Given the description of an element on the screen output the (x, y) to click on. 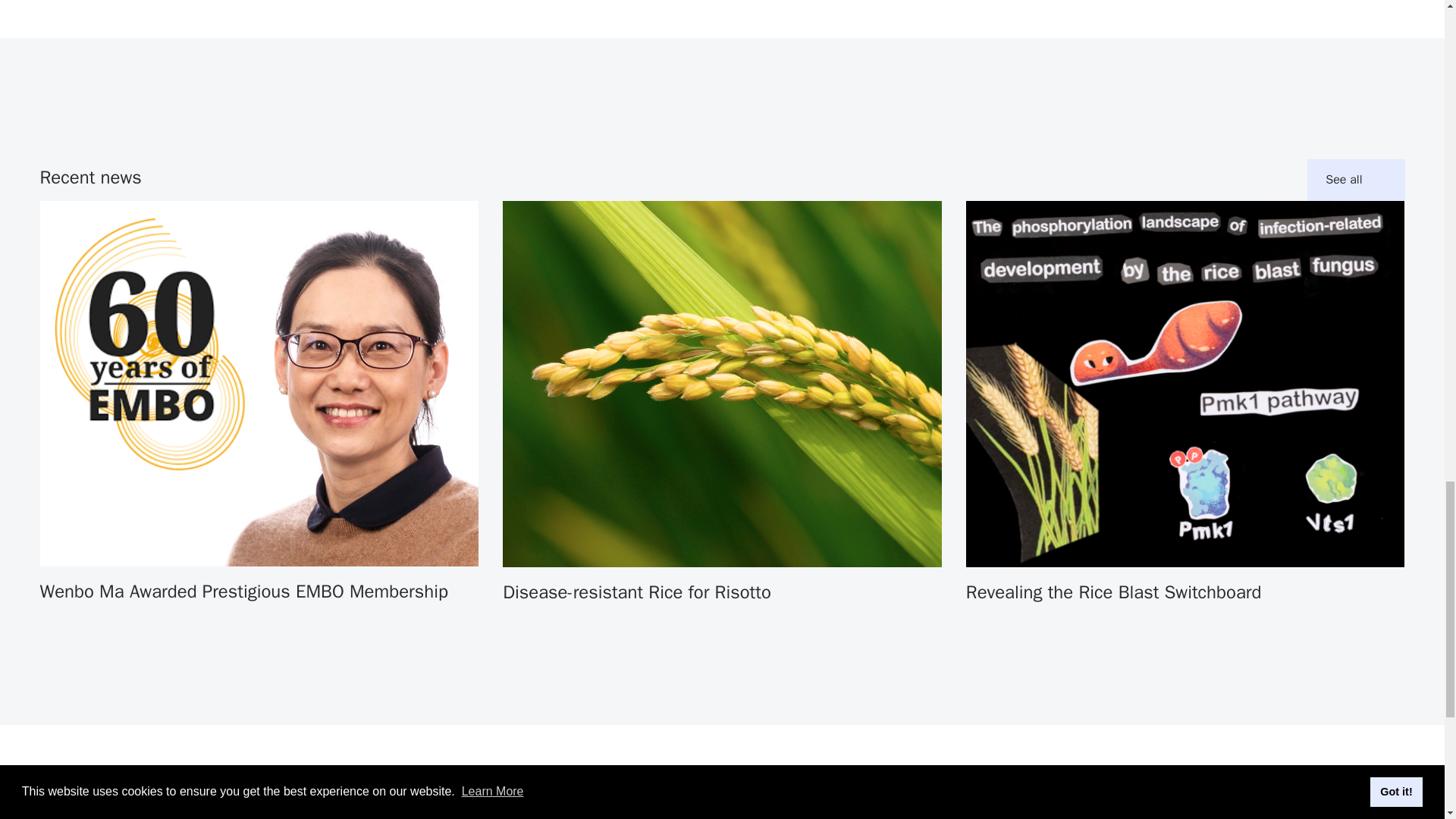
See all (1356, 179)
